Given the description of an element on the screen output the (x, y) to click on. 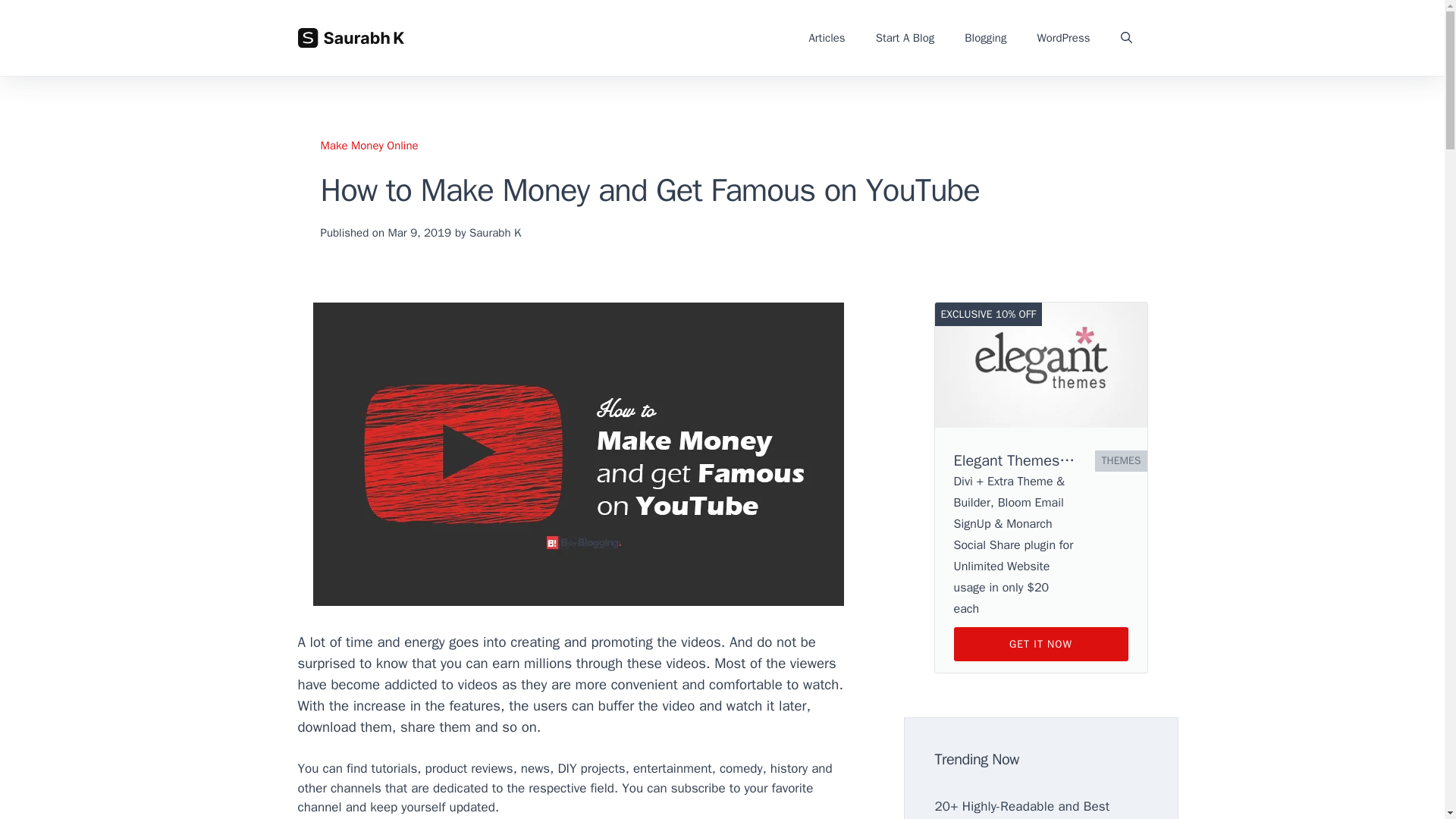
Start A Blog (905, 37)
Themes (1120, 460)
Get This Deal (1040, 643)
Articles (826, 37)
WordPress (1063, 37)
GET IT NOW (1040, 643)
Blogging (985, 37)
THEMES (1120, 460)
Make Money Online (368, 145)
